Given the description of an element on the screen output the (x, y) to click on. 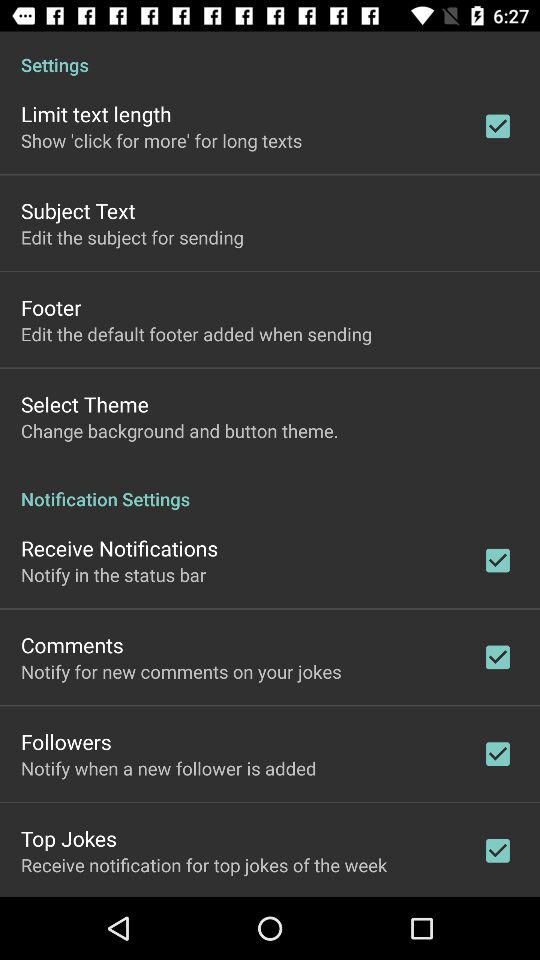
turn off item below the show click for item (78, 210)
